Given the description of an element on the screen output the (x, y) to click on. 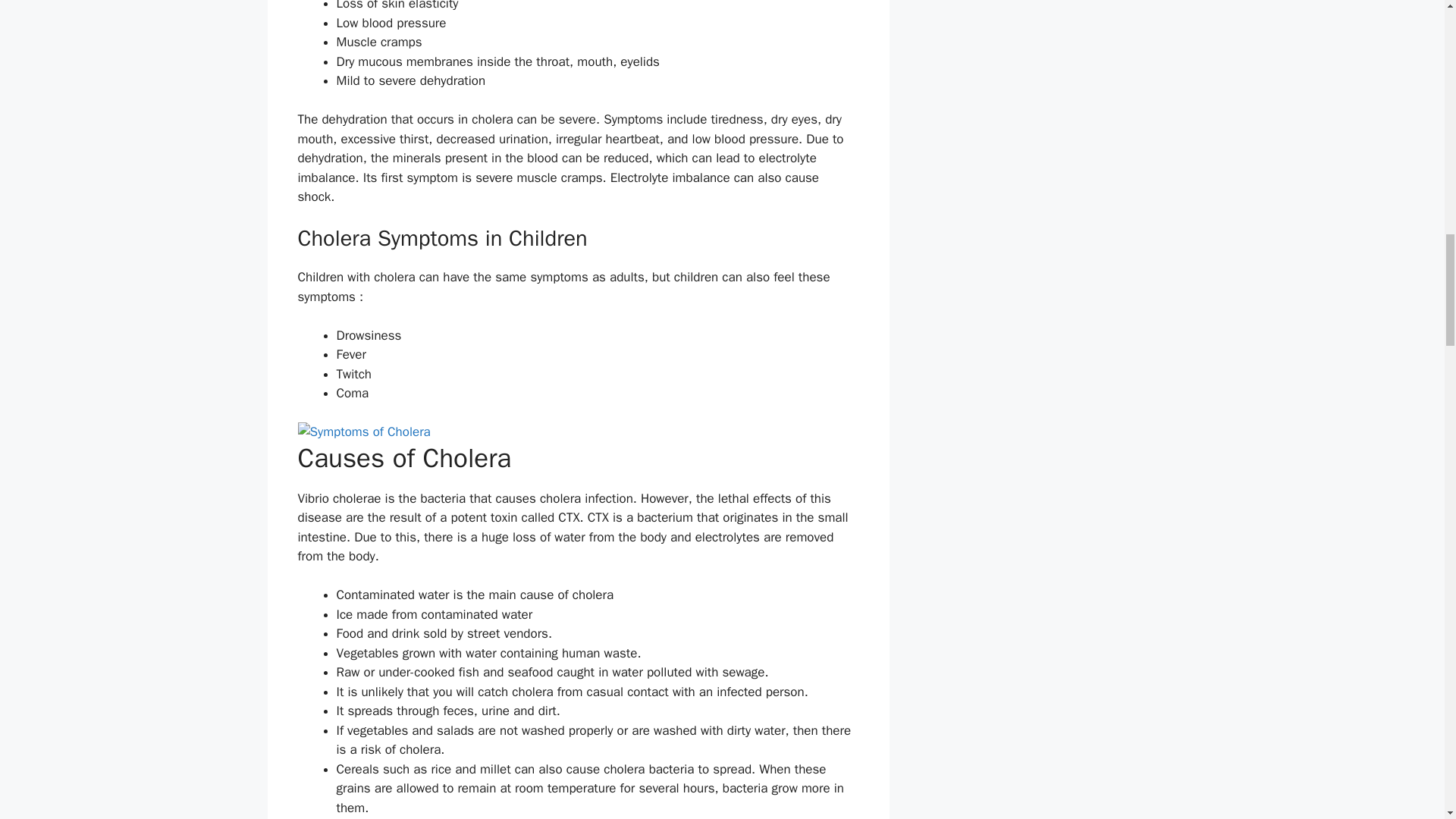
Symptoms of Cholera (363, 432)
